Given the description of an element on the screen output the (x, y) to click on. 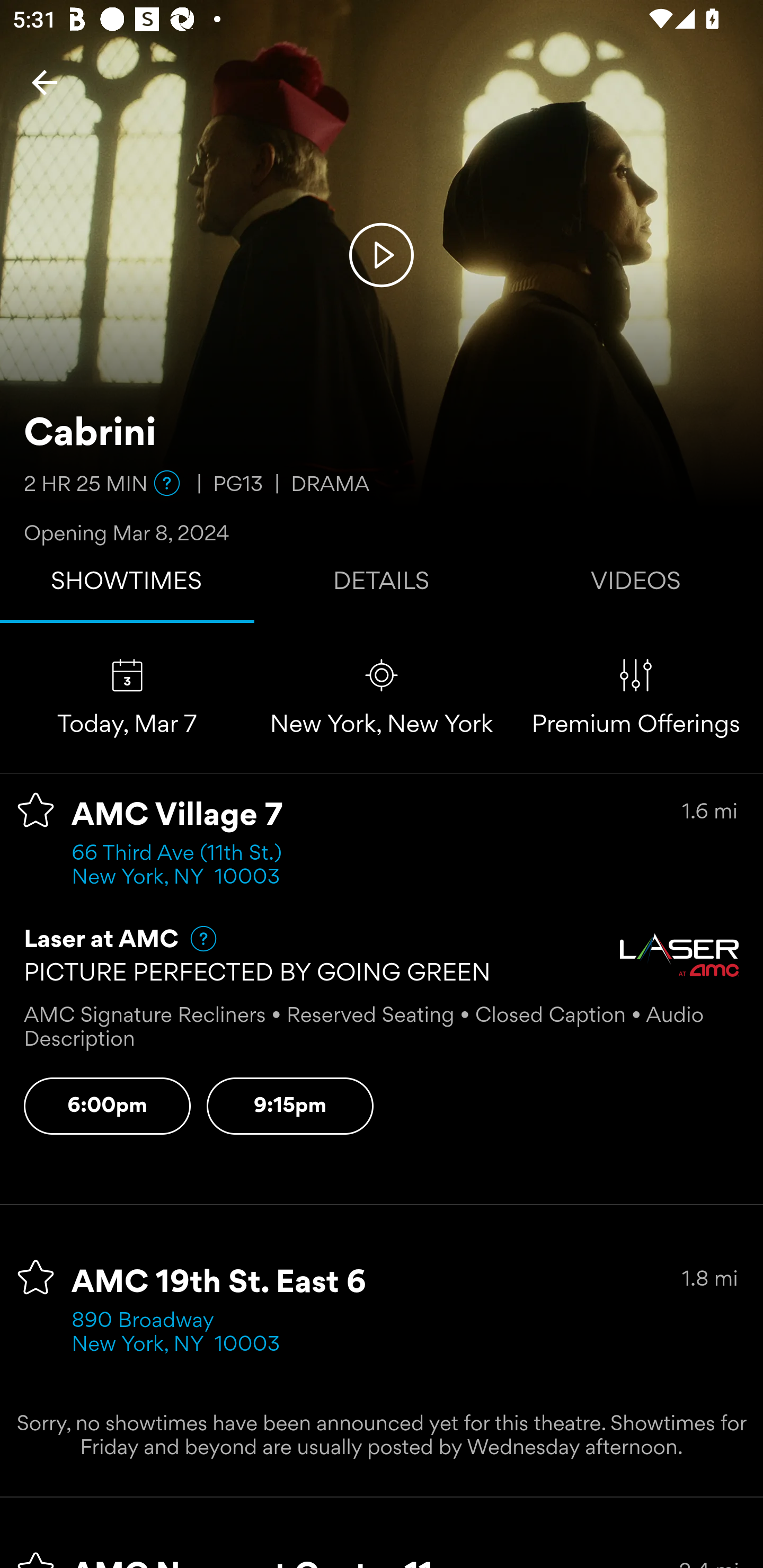
Back (44, 82)
Play (381, 254)
Help (167, 482)
SHOWTIMES
Tab 1 of 3 (127, 584)
DETAILS
Tab 2 of 3 (381, 584)
VIDEOS
Tab 3 of 3 (635, 584)
Change selected day
Today, Mar 7 (127, 697)
Change location
New York, New York (381, 697)
Premium Offerings
Premium Offerings (635, 697)
AMC Village 7 (177, 816)
66 Third Ave (11th St.)  
New York, NY  10003 (182, 866)
Help (195, 938)
AMC Village 7 Laser at AMC 6:00pm Showtime Button (106, 1105)
AMC Village 7 Laser at AMC 9:15pm Showtime Button (289, 1105)
AMC 19th St. East 6 (219, 1283)
890 Broadway  
New York, NY  10003 (176, 1333)
